Given the description of an element on the screen output the (x, y) to click on. 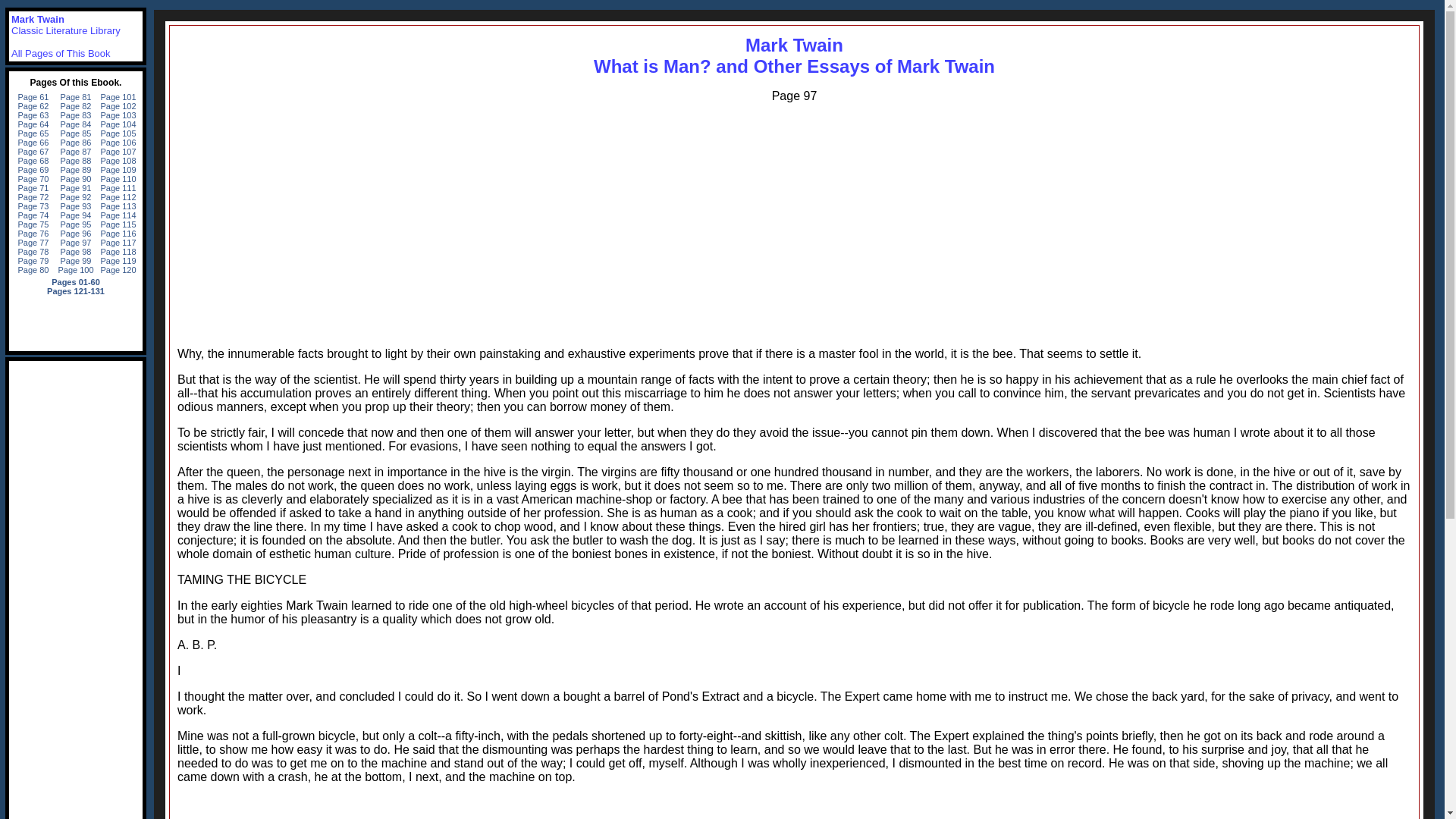
Classic Literature Library (65, 30)
Advertisement (794, 807)
All Pages of This Book (794, 55)
Mark Twain (60, 52)
